Given the description of an element on the screen output the (x, y) to click on. 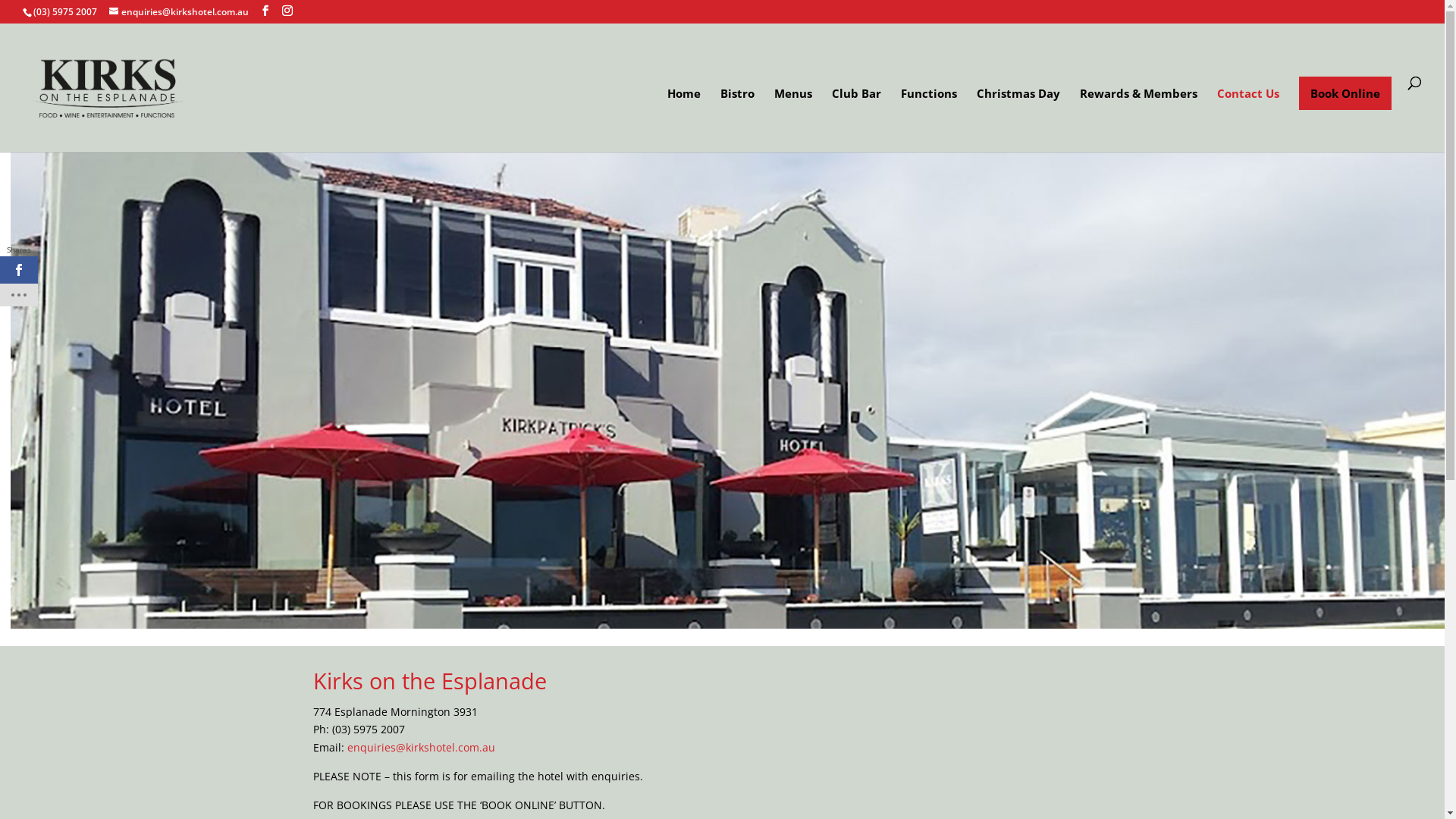
Book Online Element type: text (1345, 92)
Home Element type: text (683, 119)
Rewards & Members Element type: text (1138, 119)
Christmas Day Element type: text (1018, 119)
Menus Element type: text (793, 119)
Bistro Element type: text (737, 119)
enquiries@kirkshotel.com.au Element type: text (421, 747)
Functions Element type: text (928, 119)
Exterior or Kirks Hotel Mornington Element type: hover (727, 356)
Club Bar Element type: text (856, 119)
enquiries@kirkshotel.com.au Element type: text (178, 11)
Contact Us Element type: text (1248, 119)
